Given the description of an element on the screen output the (x, y) to click on. 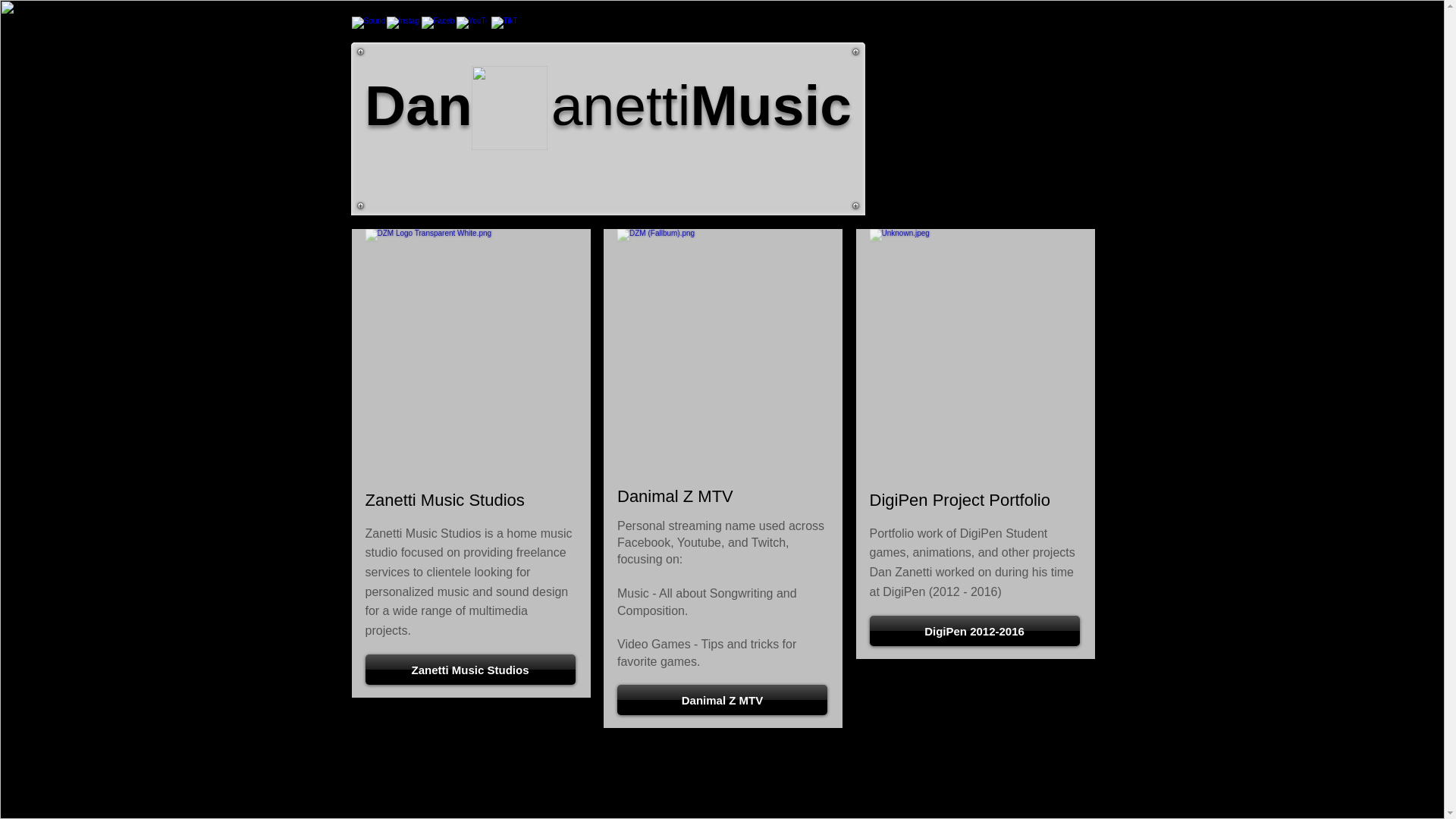
Zanetti Music Studios (470, 669)
Danimal Z MTV (722, 699)
DZM Logo Transparent.png (509, 107)
DigiPen 2012-2016 (973, 630)
